Given the description of an element on the screen output the (x, y) to click on. 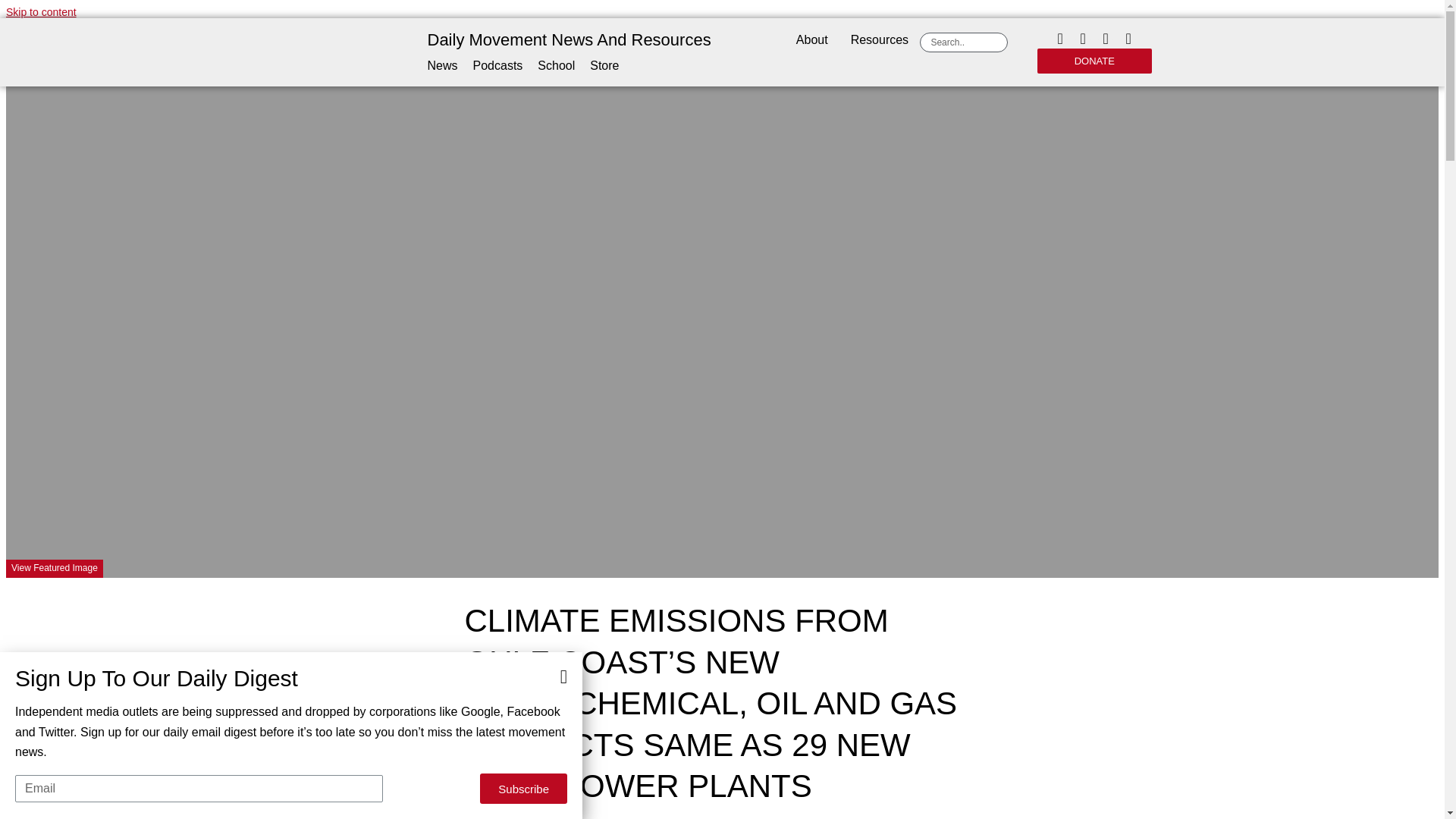
Resources (880, 40)
Skip to content (41, 11)
News (443, 66)
Podcasts (497, 66)
Store (603, 66)
School (556, 66)
About (812, 40)
Search (966, 42)
